Given the description of an element on the screen output the (x, y) to click on. 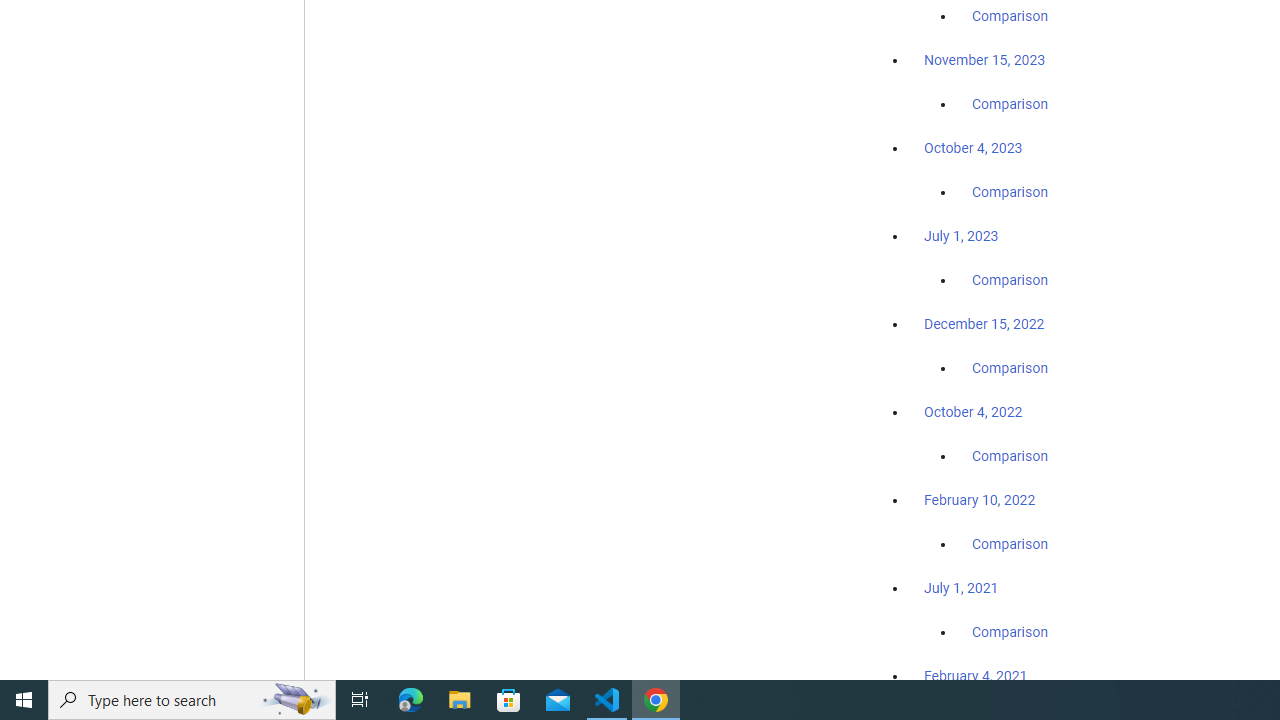
February 10, 2022 (979, 500)
Comparison (1009, 631)
November 15, 2023 (984, 60)
July 1, 2021 (961, 587)
October 4, 2022 (973, 412)
December 15, 2022 (984, 323)
February 4, 2021 (975, 675)
July 1, 2023 (961, 236)
October 4, 2023 (973, 148)
